Given the description of an element on the screen output the (x, y) to click on. 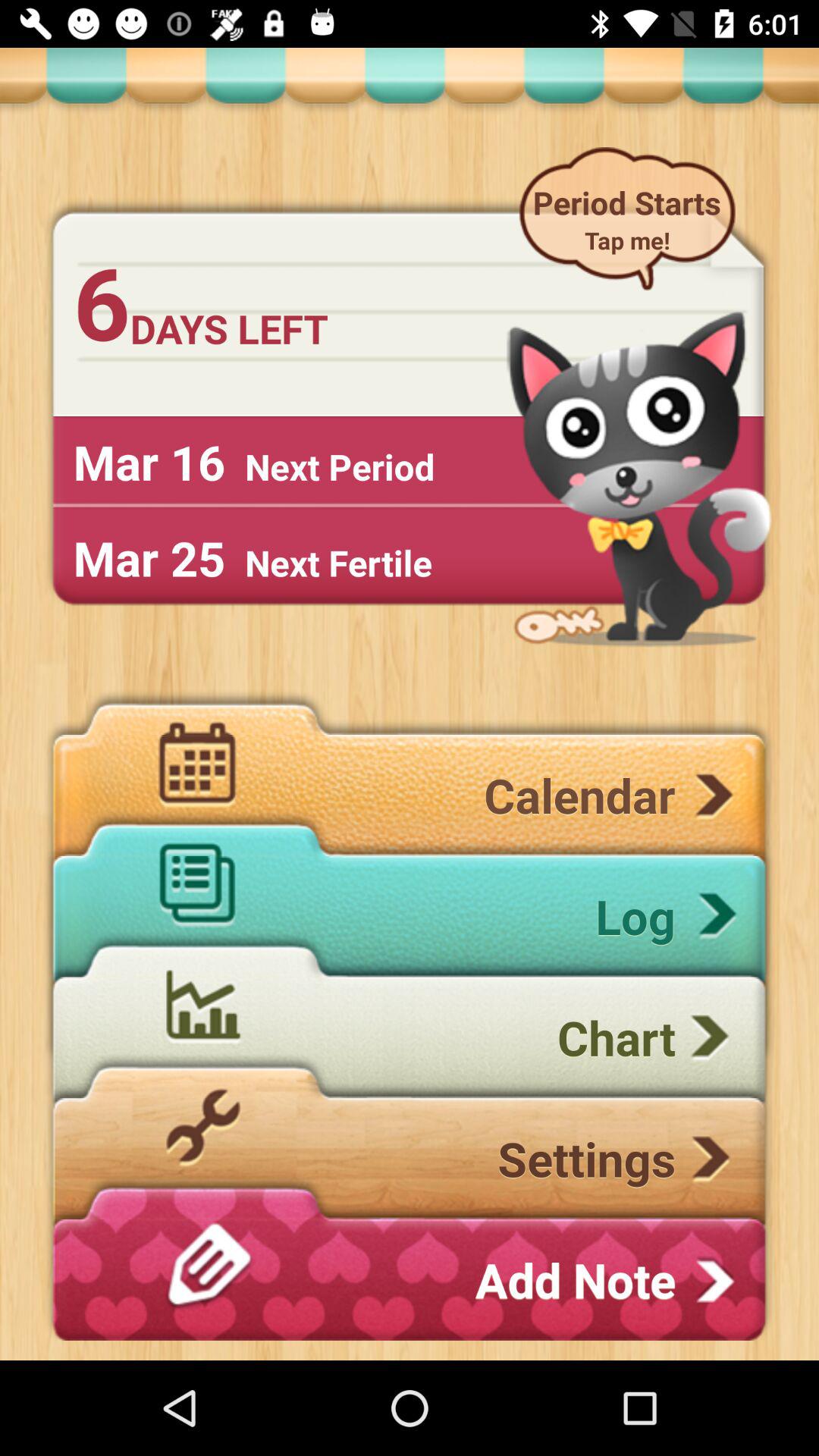
click on settings (408, 1157)
